Given the description of an element on the screen output the (x, y) to click on. 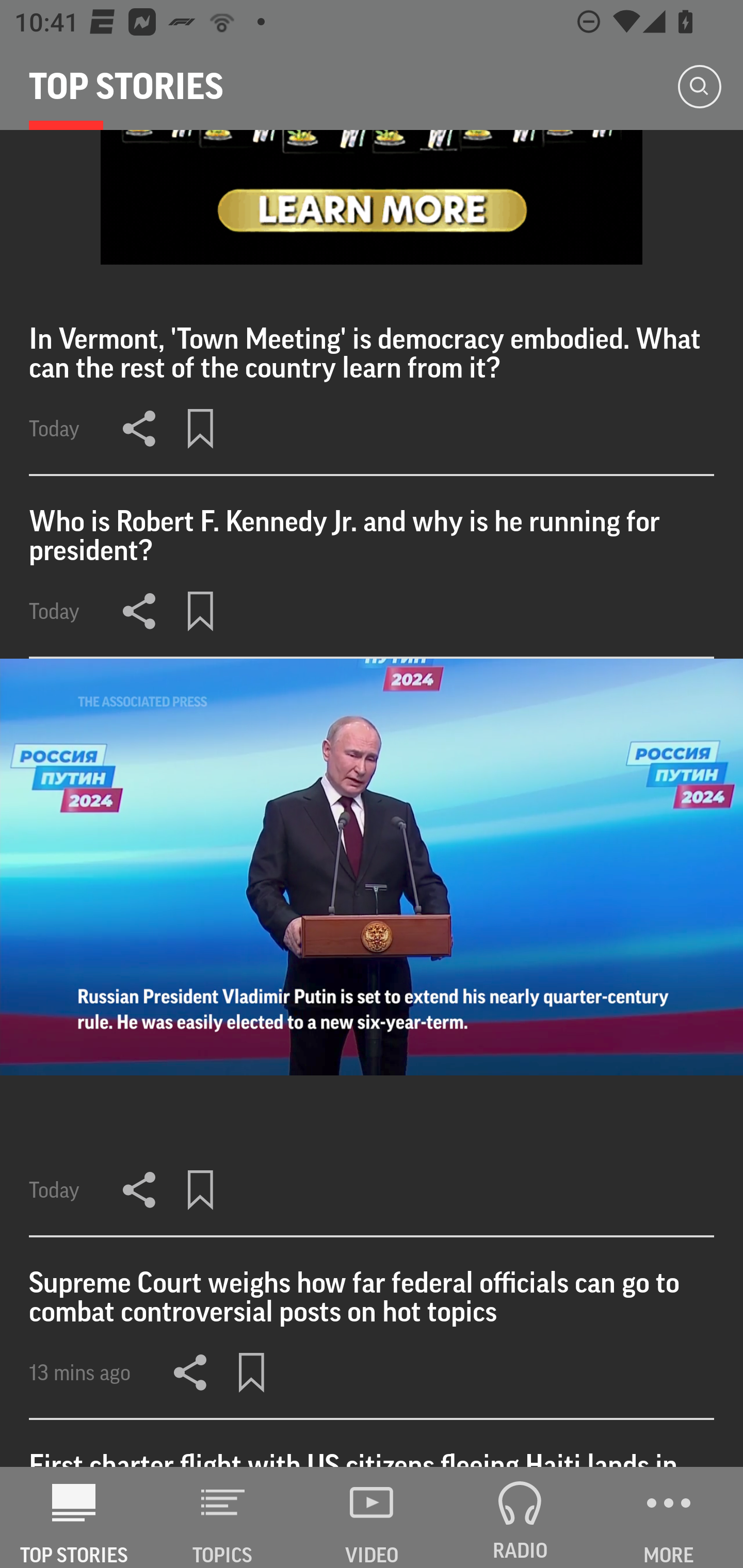
28 (371, 197)
toggle controls Today (371, 947)
toggle controls (371, 866)
AP News TOP STORIES (74, 1517)
TOPICS (222, 1517)
VIDEO (371, 1517)
RADIO (519, 1517)
MORE (668, 1517)
